Given the description of an element on the screen output the (x, y) to click on. 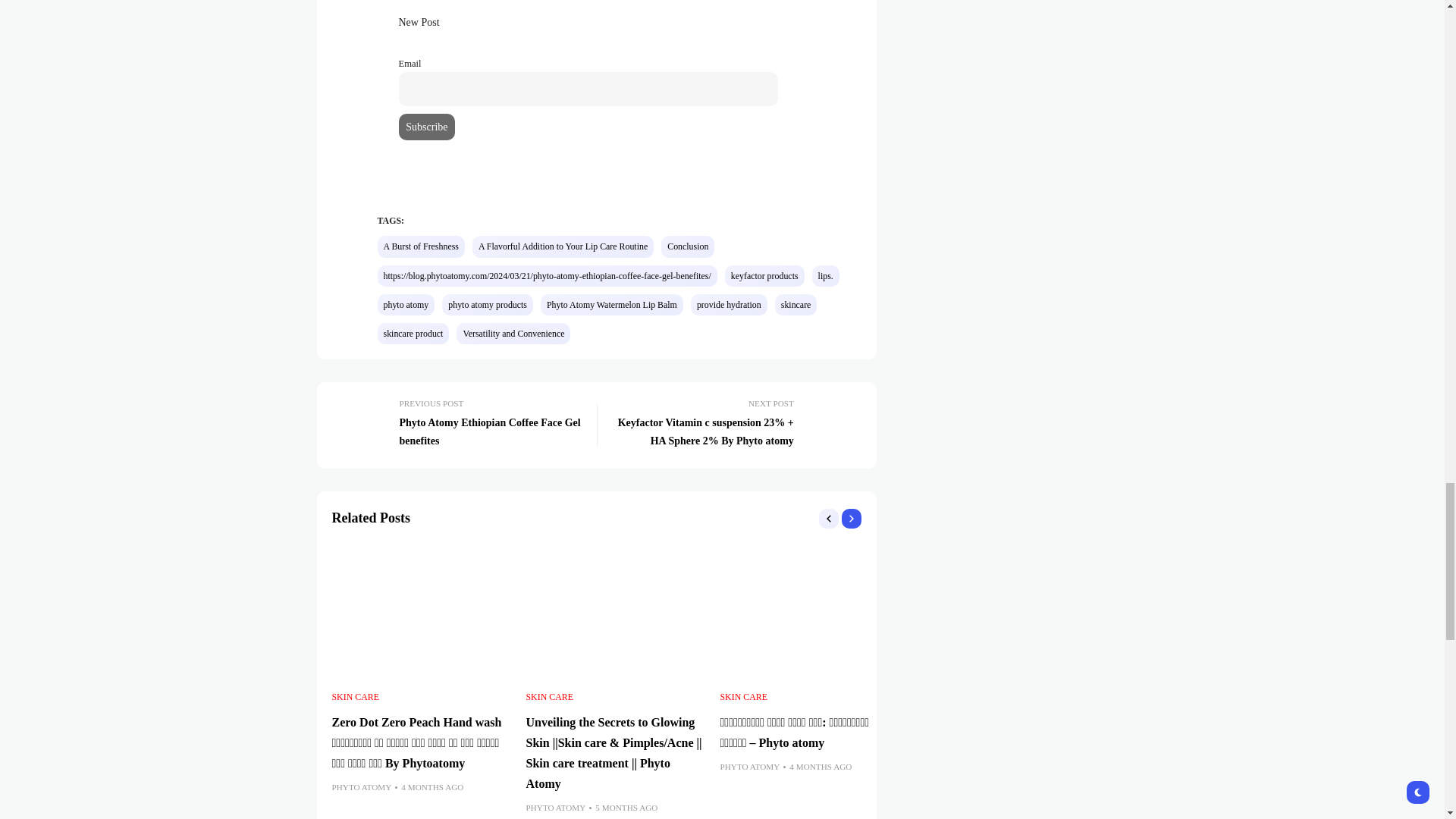
Subscribe (426, 126)
